Given the description of an element on the screen output the (x, y) to click on. 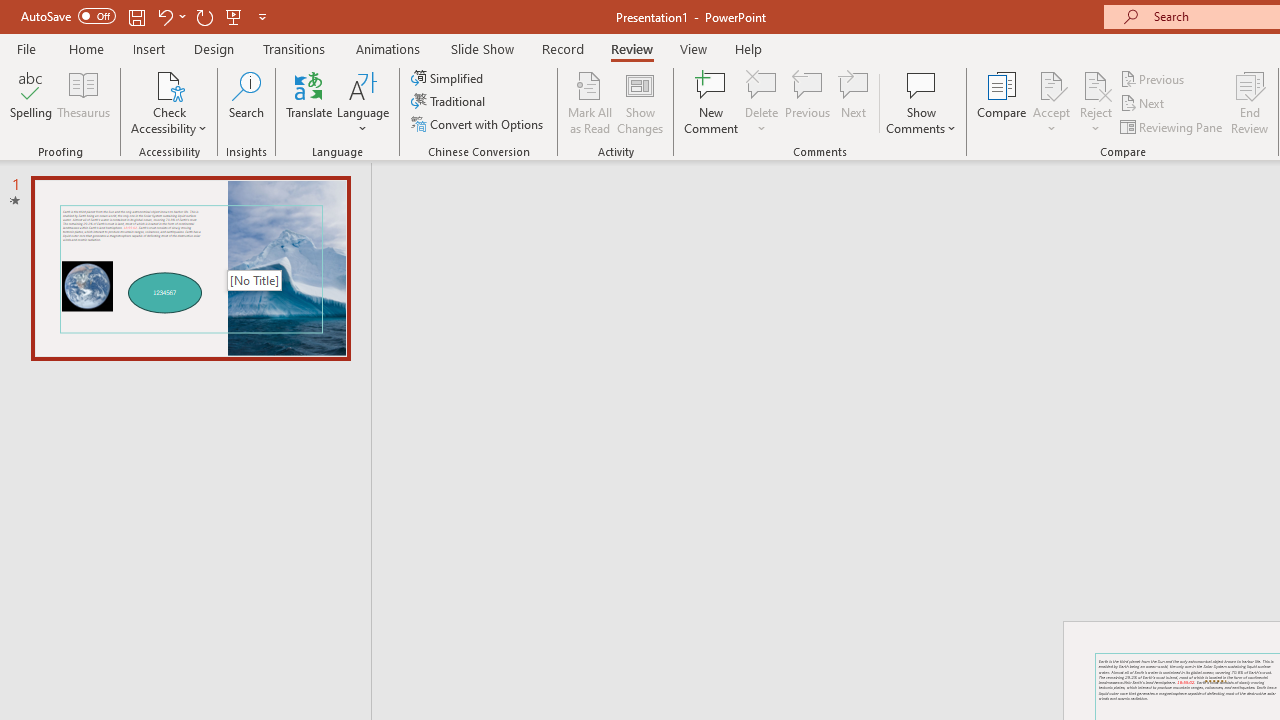
Reject Change (1096, 84)
Spelling... (31, 102)
Reviewing Pane (1172, 126)
End Review (1249, 102)
Compare (1002, 102)
Mark All as Read (589, 102)
Simplified (449, 78)
Thesaurus... (83, 102)
Show Comments (921, 84)
Previous (1153, 78)
